Given the description of an element on the screen output the (x, y) to click on. 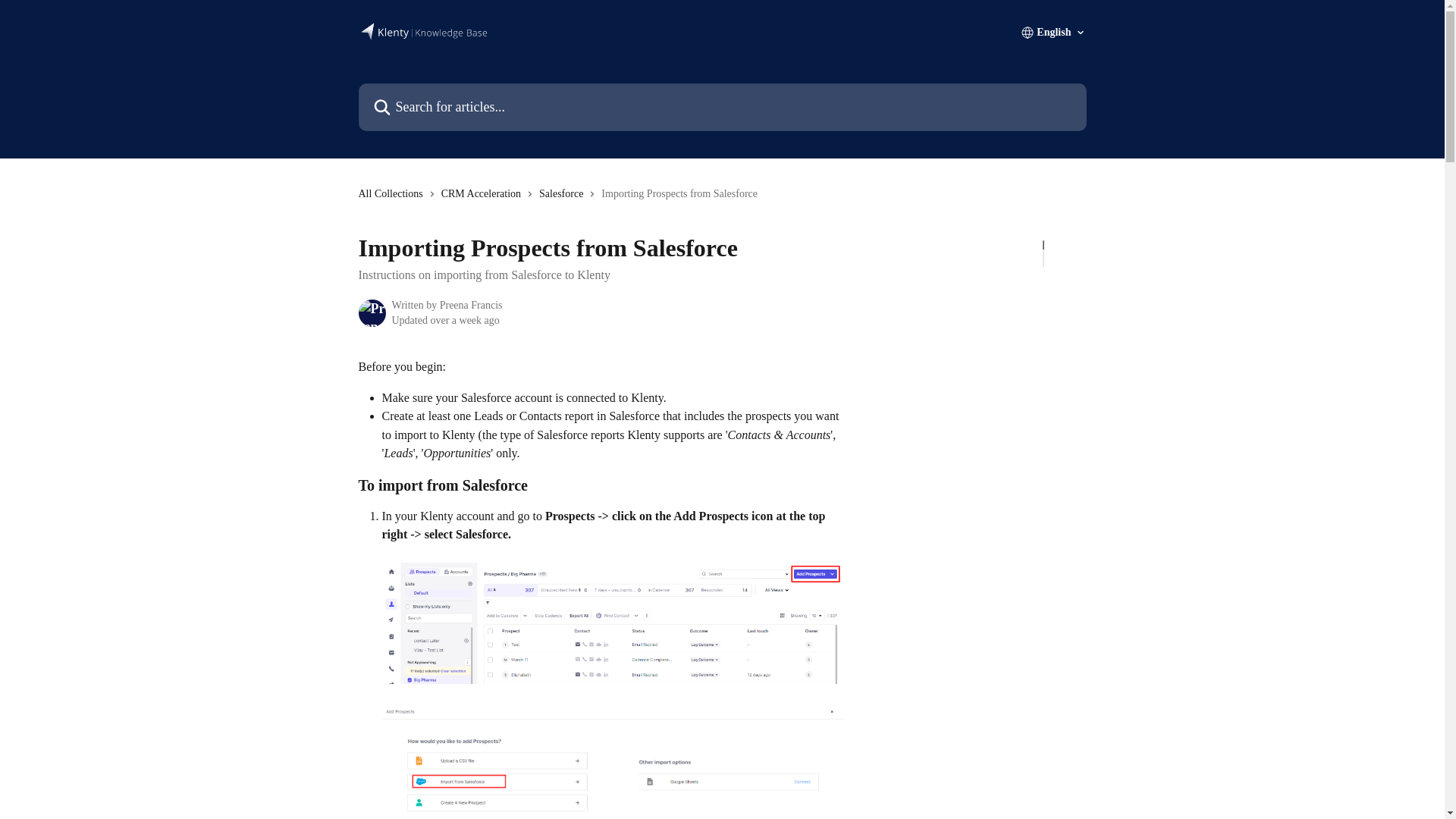
Salesforce (563, 193)
All Collections (393, 193)
CRM Acceleration (484, 193)
